Given the description of an element on the screen output the (x, y) to click on. 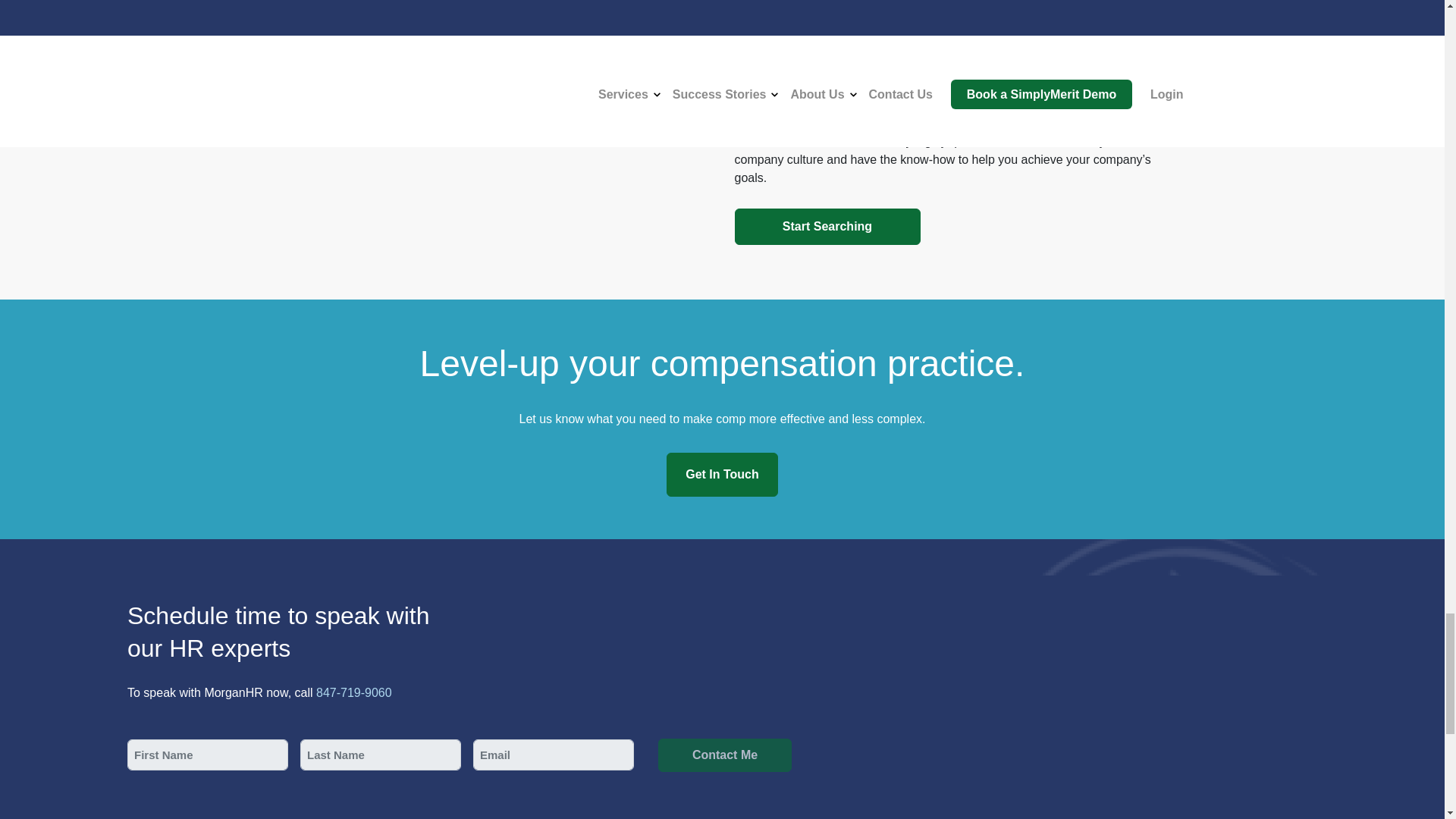
Contact Me (725, 755)
Get In Touch (721, 474)
Start Searching (826, 226)
